Given the description of an element on the screen output the (x, y) to click on. 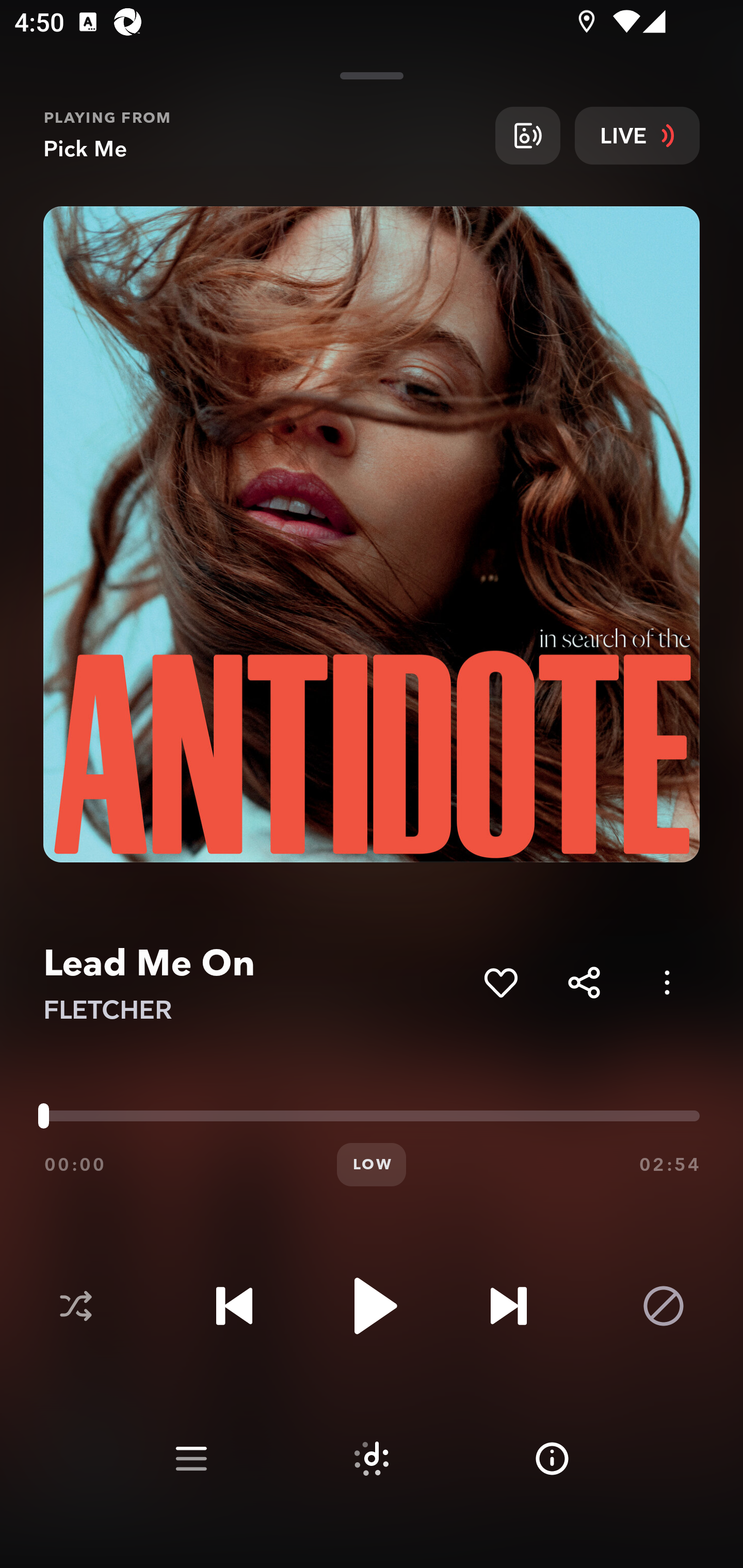
Broadcast (527, 135)
LIVE (637, 135)
PLAYING FROM Pick Me (261, 135)
Lead Me On FLETCHER (255, 983)
Add to My Collection (500, 982)
Share (583, 982)
Options (666, 982)
LOW (371, 1164)
Play (371, 1306)
Previous (234, 1306)
Next (508, 1306)
Block (663, 1306)
Shuffle disabled (75, 1306)
Play queue (191, 1458)
Suggested tracks (371, 1458)
Info (551, 1458)
